Given the description of an element on the screen output the (x, y) to click on. 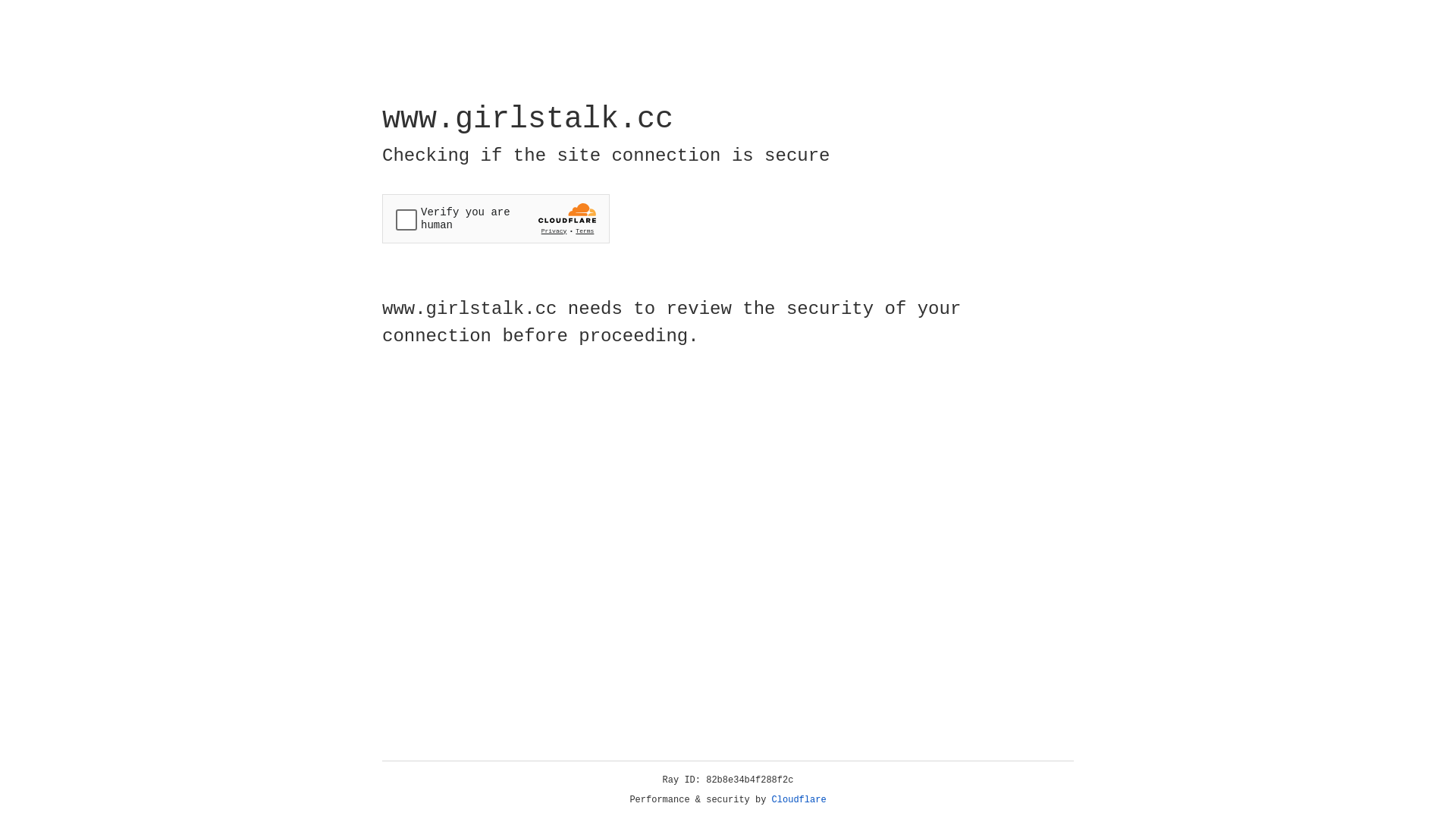
Widget containing a Cloudflare security challenge Element type: hover (495, 218)
Cloudflare Element type: text (798, 799)
